Given the description of an element on the screen output the (x, y) to click on. 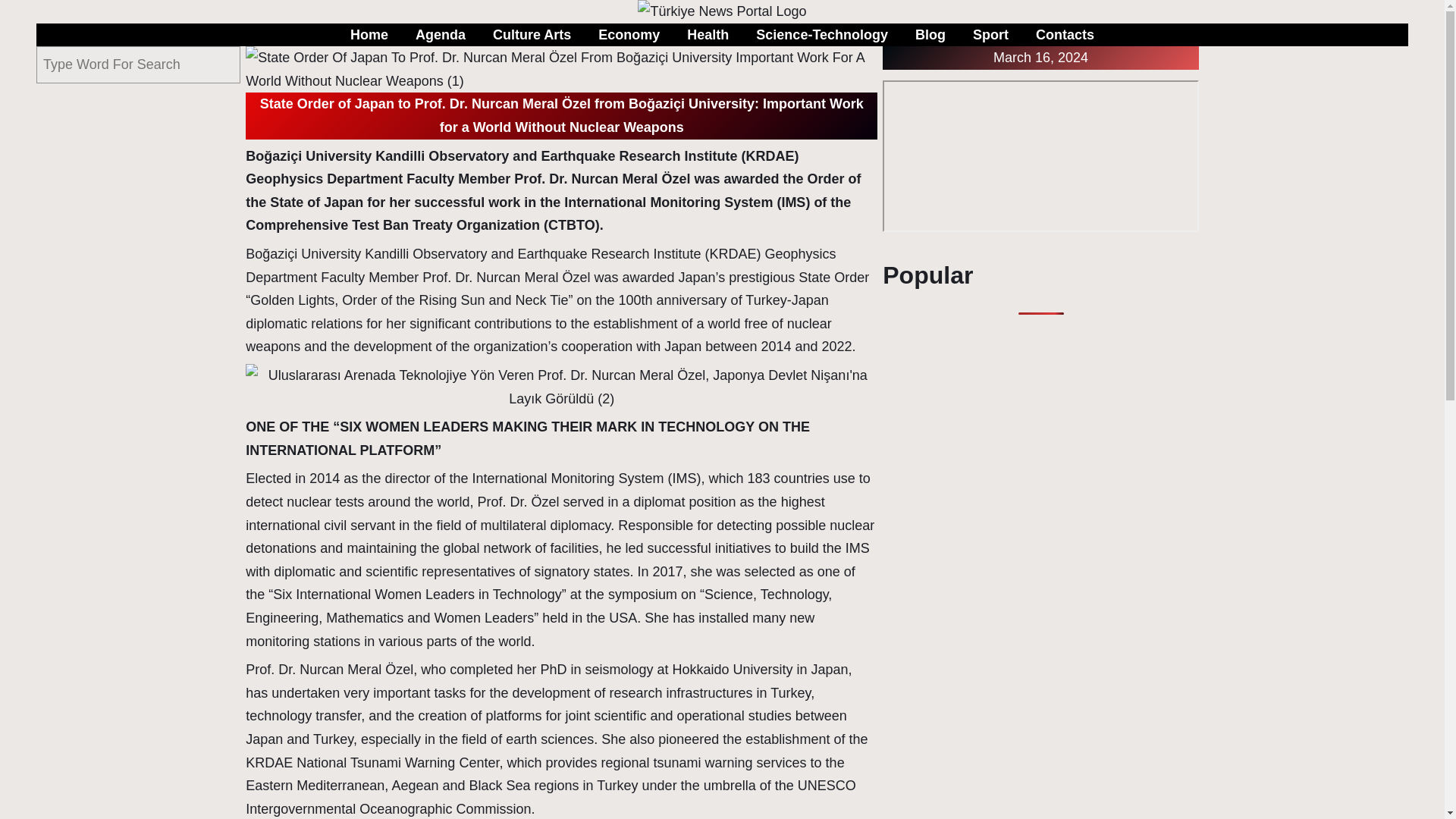
Science-Technology (821, 34)
Home (369, 34)
Culture Arts (531, 34)
Health (708, 34)
Contacts (1064, 34)
Blog (929, 34)
Sport (990, 34)
Agenda (439, 34)
Economy (628, 34)
